Given the description of an element on the screen output the (x, y) to click on. 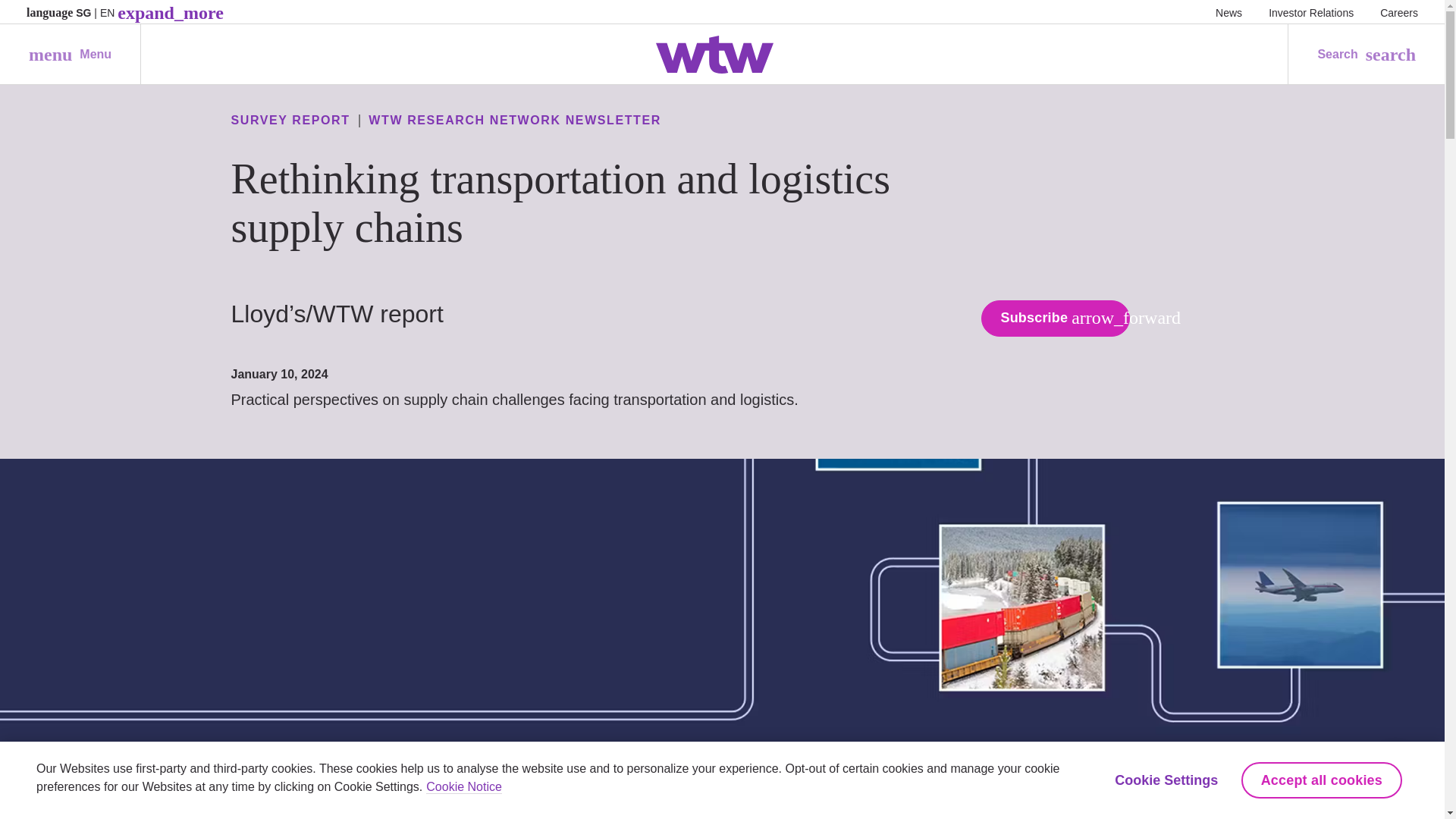
Investor Relations (69, 54)
News (1311, 12)
Careers (1228, 12)
